Given the description of an element on the screen output the (x, y) to click on. 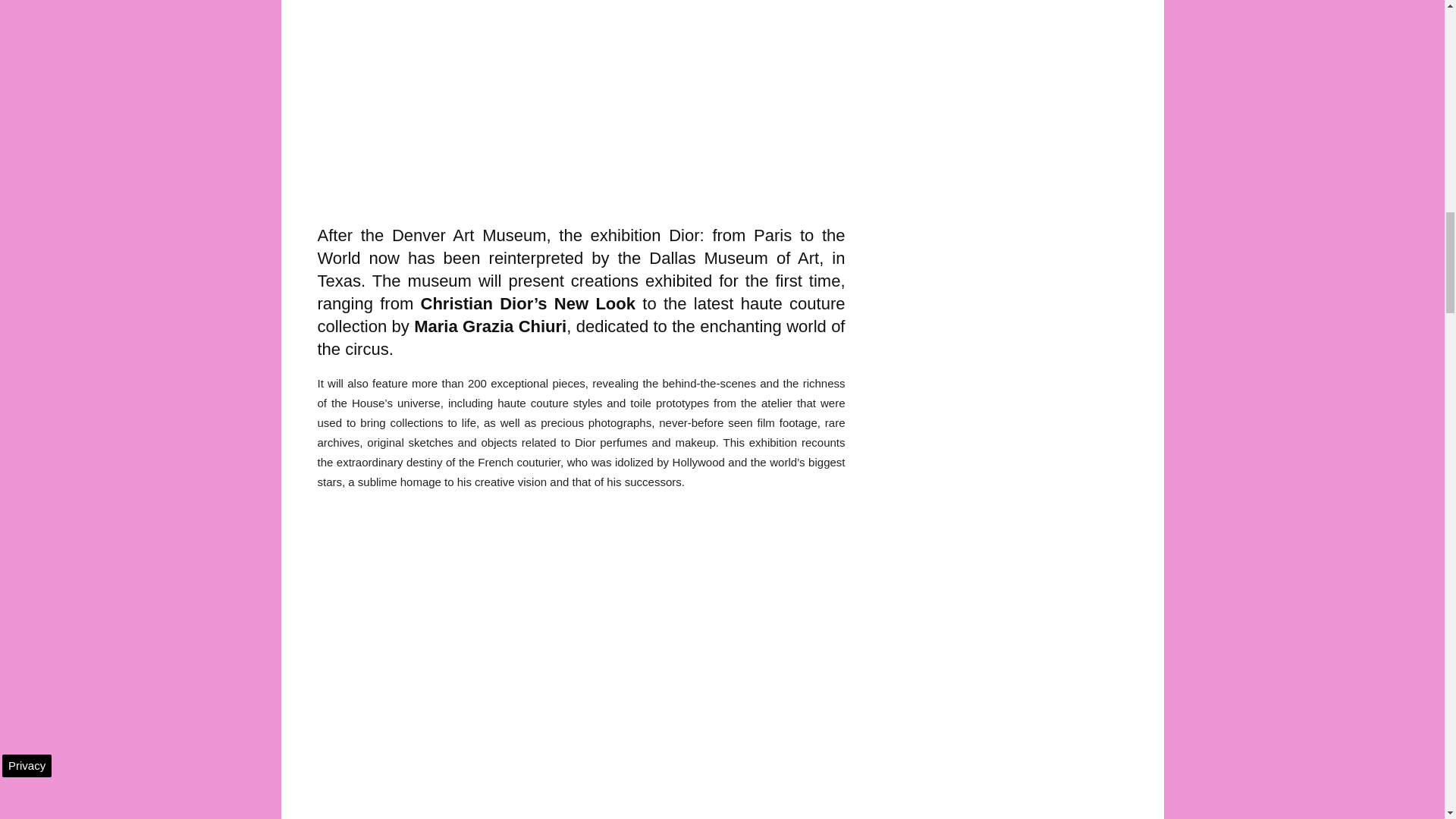
Dior: from Paris to the World (580, 246)
